Given the description of an element on the screen output the (x, y) to click on. 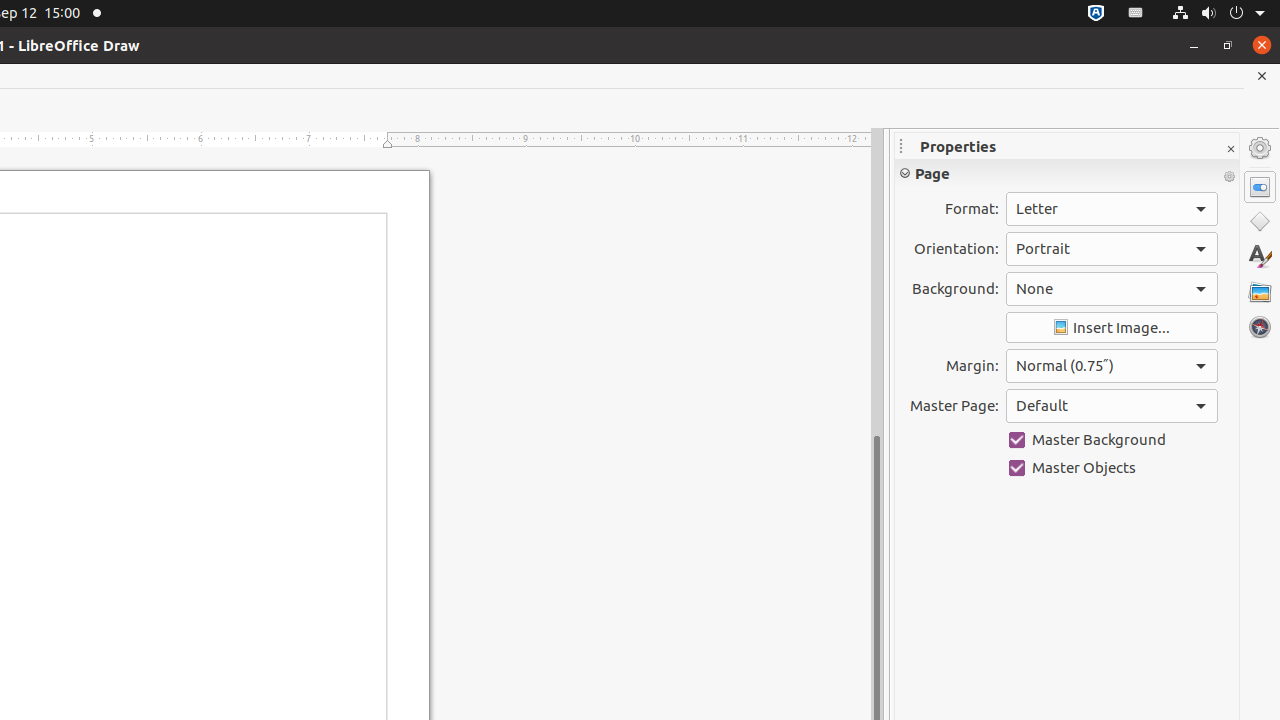
Orientation: Element type: combo-box (1112, 249)
Format: Element type: combo-box (1112, 209)
